Given the description of an element on the screen output the (x, y) to click on. 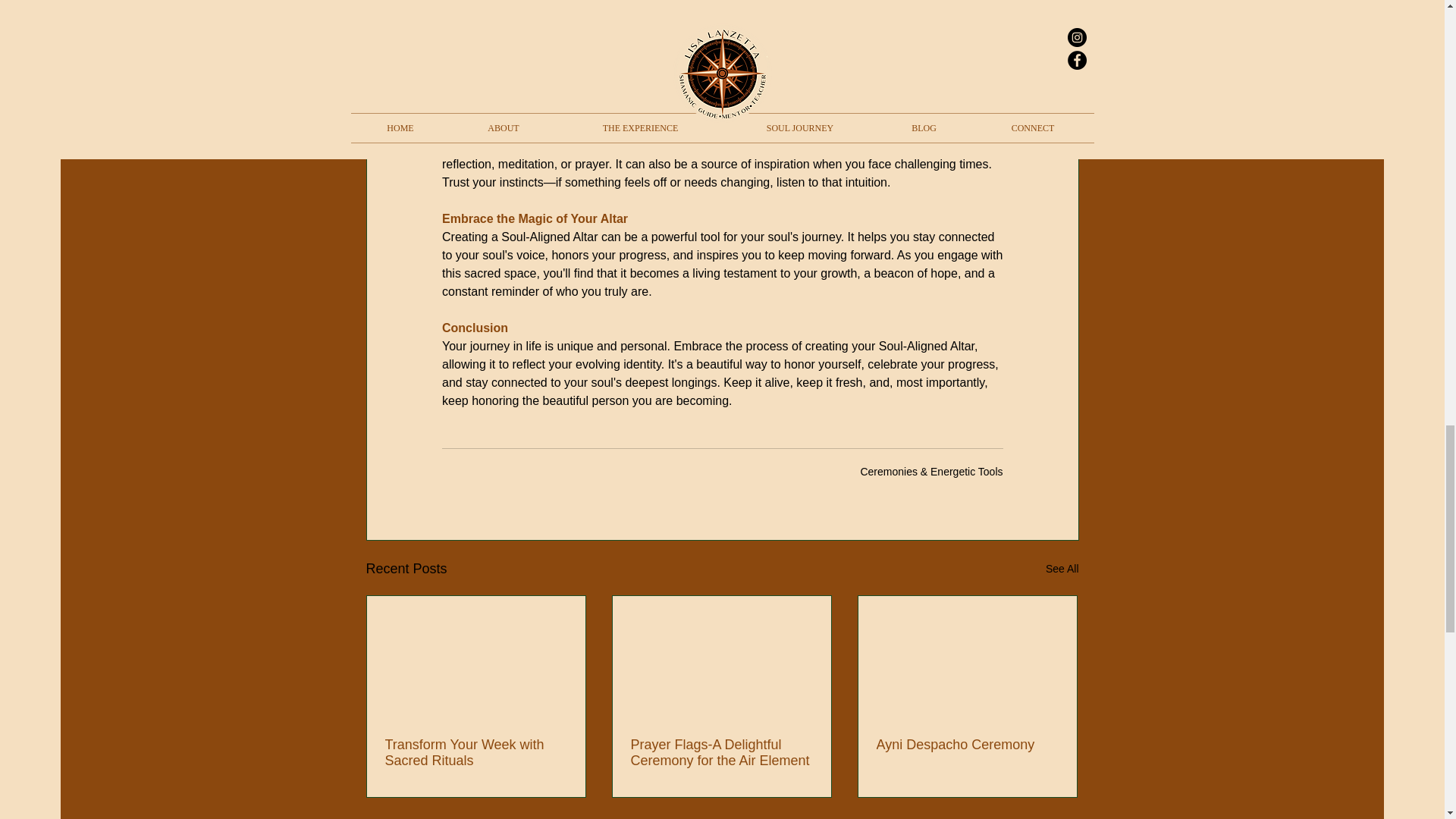
Transform Your Week with Sacred Rituals (476, 753)
See All (1061, 568)
Ayni Despacho Ceremony (967, 744)
Prayer Flags-A Delightful Ceremony for the Air Element (721, 753)
